Given the description of an element on the screen output the (x, y) to click on. 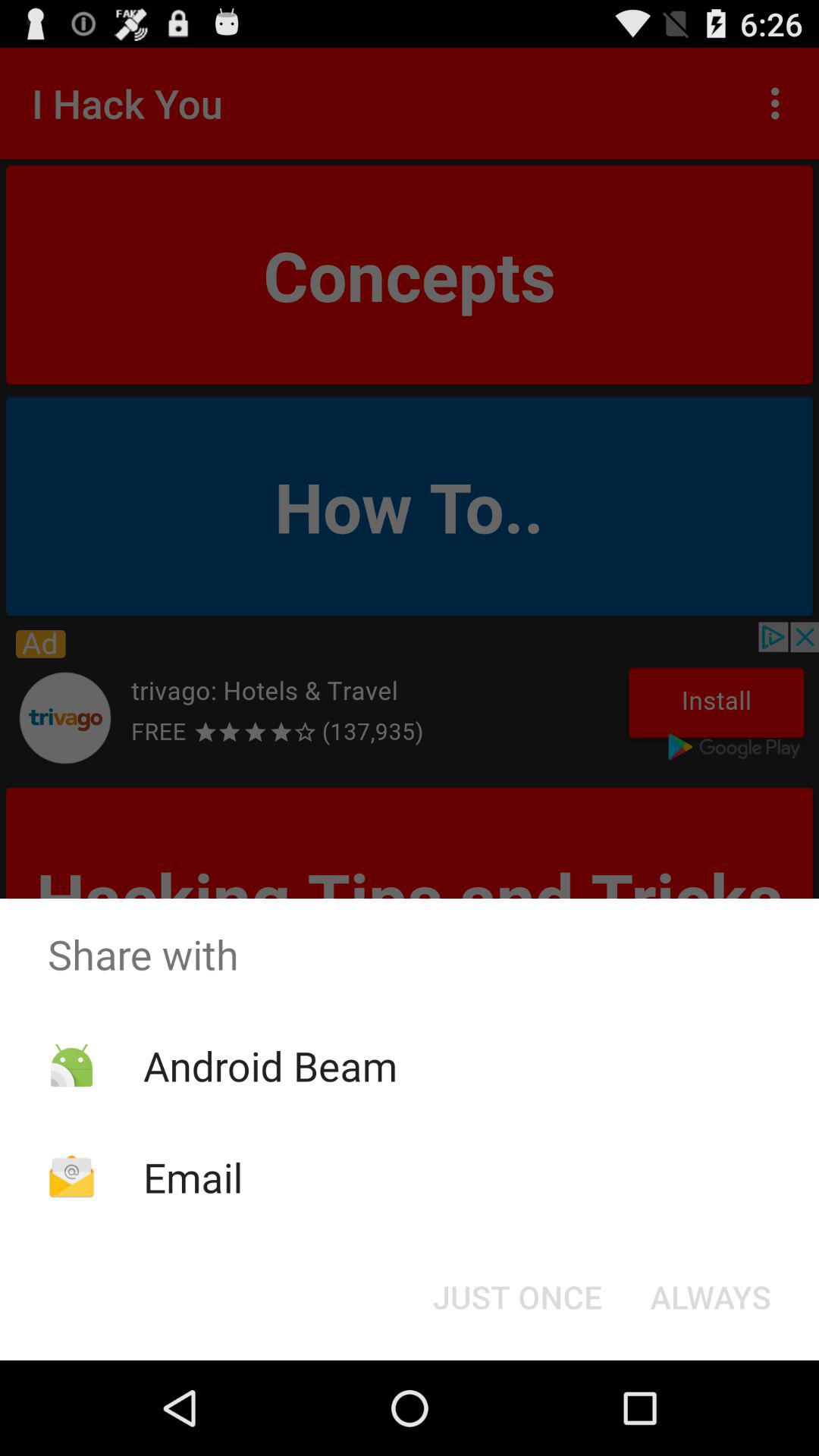
select the android beam (270, 1065)
